Given the description of an element on the screen output the (x, y) to click on. 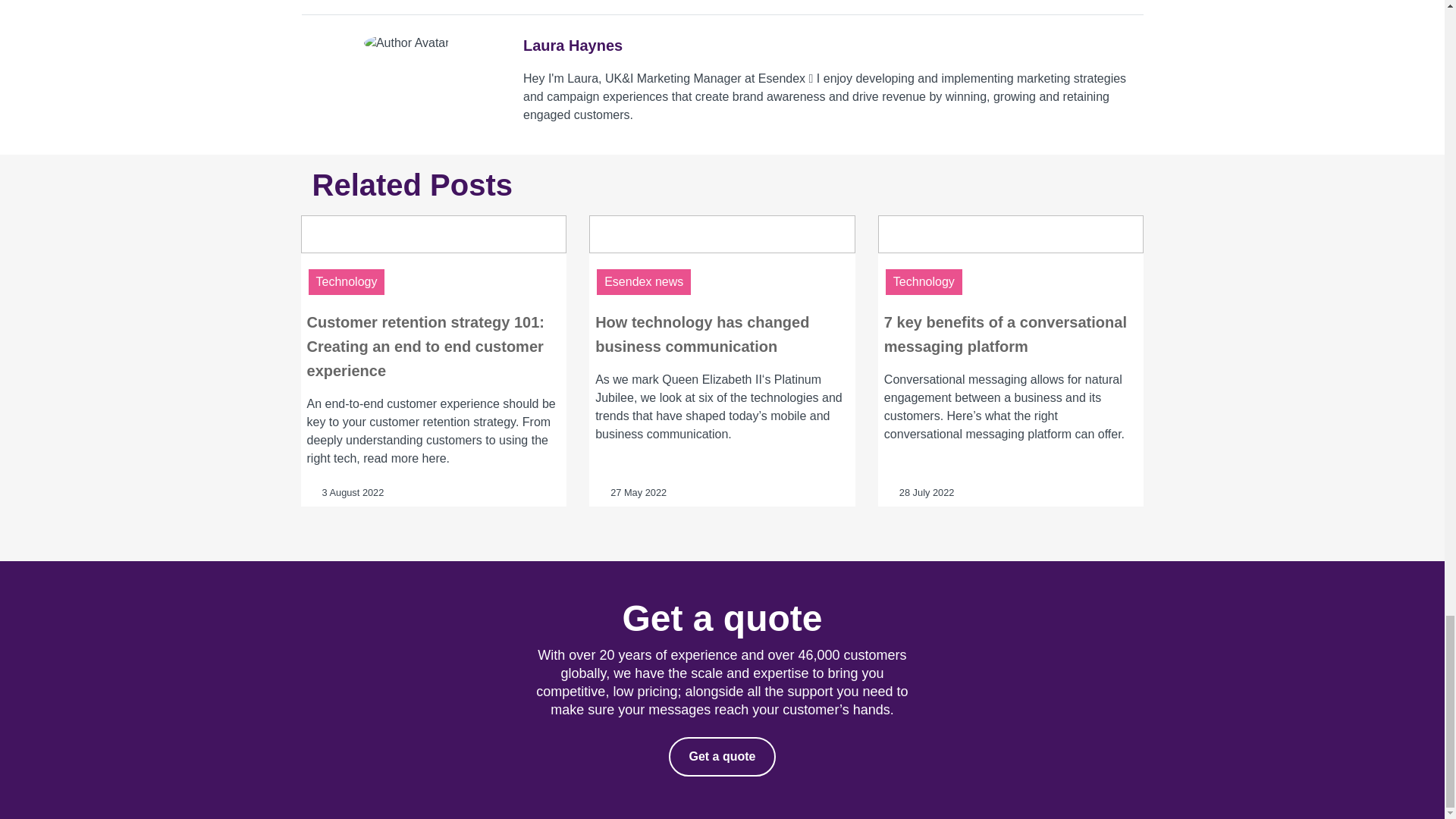
How technology has changed business communication (722, 259)
How technology has changed business communication (702, 333)
7 key benefits of a conversational messaging platform (1010, 259)
7 key benefits of a conversational messaging platform (1004, 333)
